Given the description of an element on the screen output the (x, y) to click on. 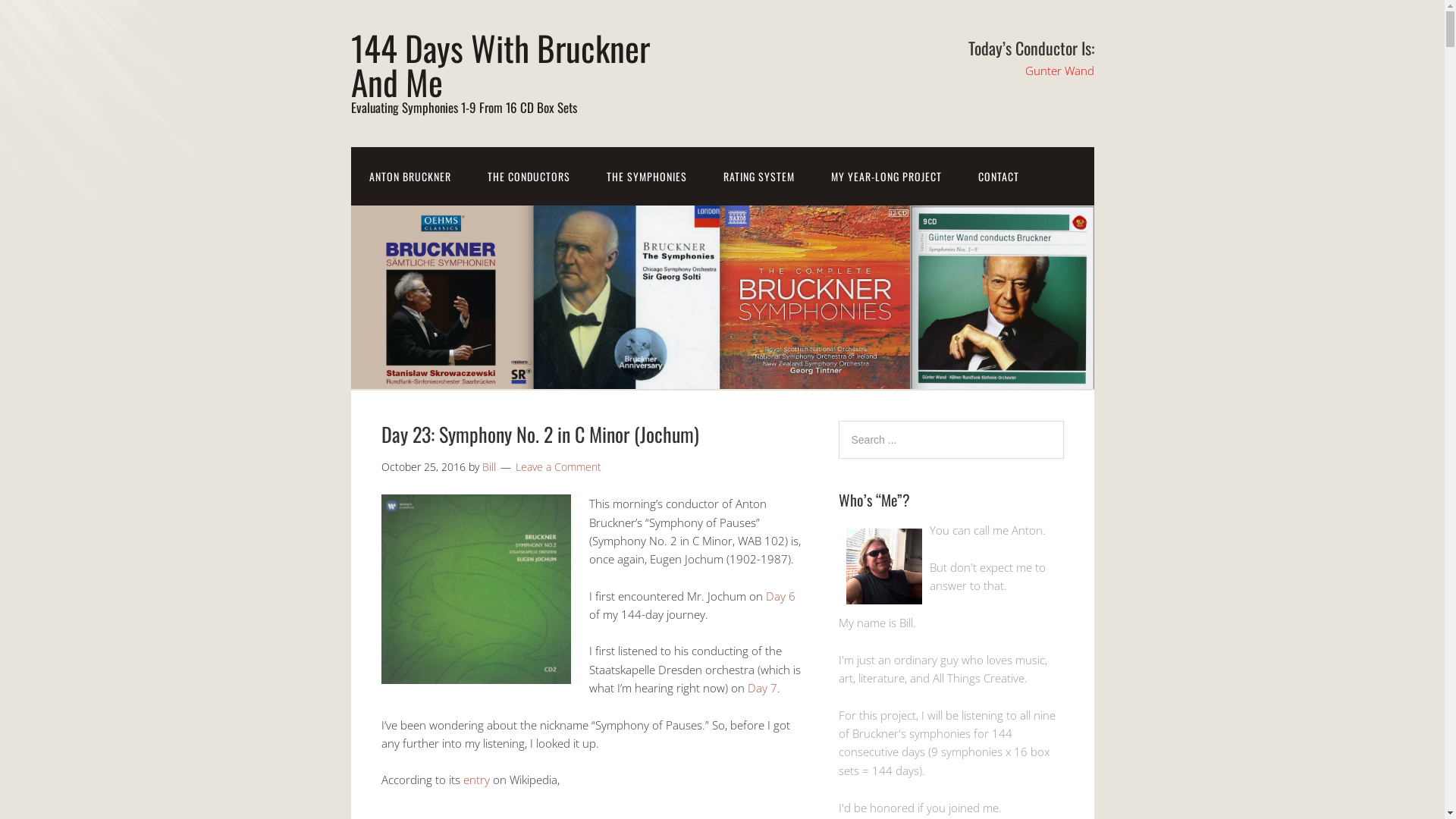
THE CONDUCTORS Element type: text (527, 176)
Bill Element type: text (488, 466)
144 Days With Bruckner And Me Element type: text (499, 63)
Leave a Comment Element type: text (558, 466)
Search for: Element type: hover (950, 439)
Day 6 Element type: text (780, 595)
THE SYMPHONIES Element type: text (646, 176)
RATING SYSTEM Element type: text (758, 176)
Search Element type: text (1063, 420)
entry Element type: text (475, 779)
Day 7 Element type: text (762, 687)
ANTON BRUCKNER Element type: text (409, 176)
CONTACT Element type: text (998, 176)
MY YEAR-LONG PROJECT Element type: text (886, 176)
